Given the description of an element on the screen output the (x, y) to click on. 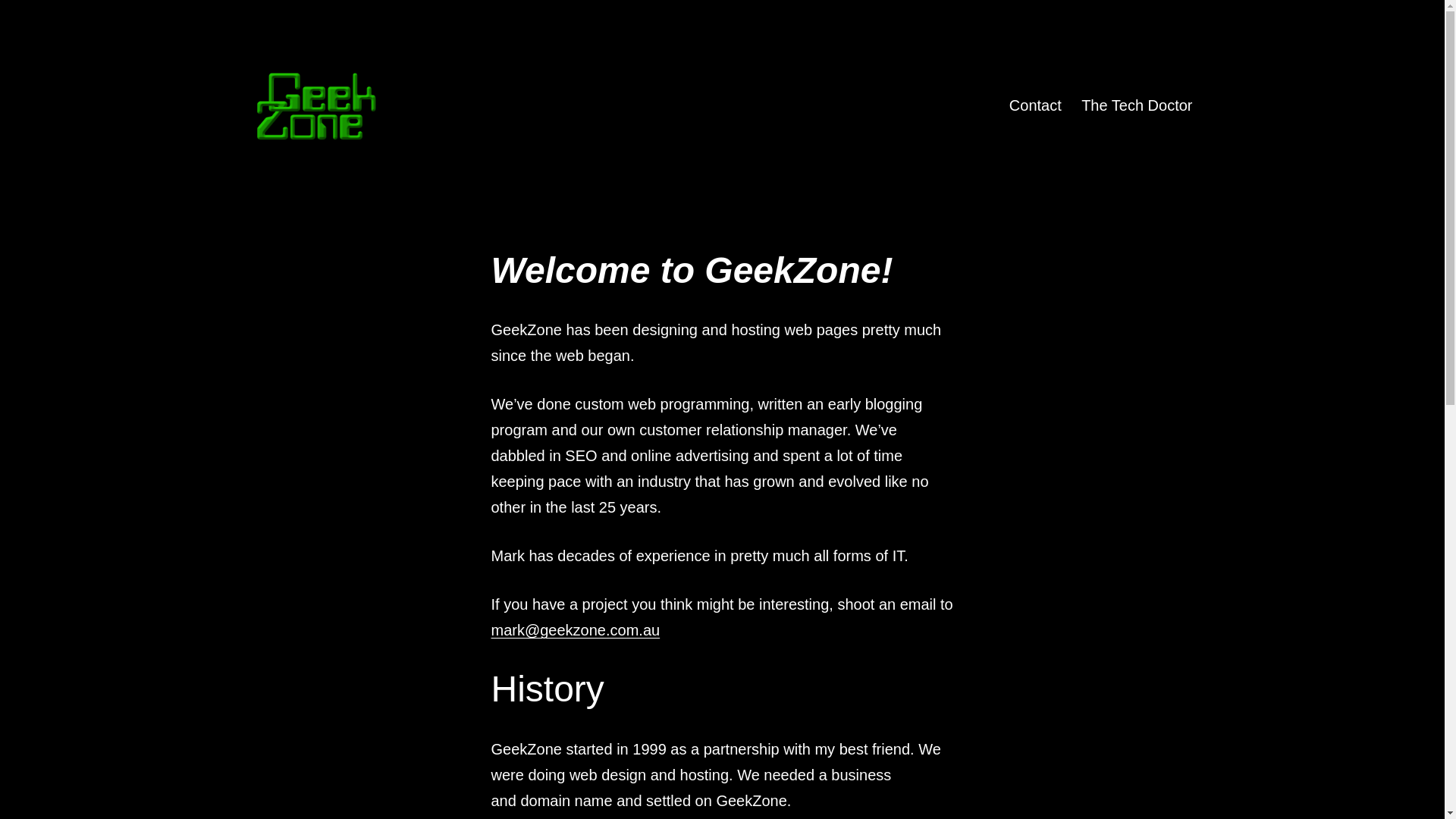
The Tech Doctor Element type: text (1136, 104)
mark@geekzone.com.au Element type: text (575, 629)
Contact Element type: text (1035, 104)
